Given the description of an element on the screen output the (x, y) to click on. 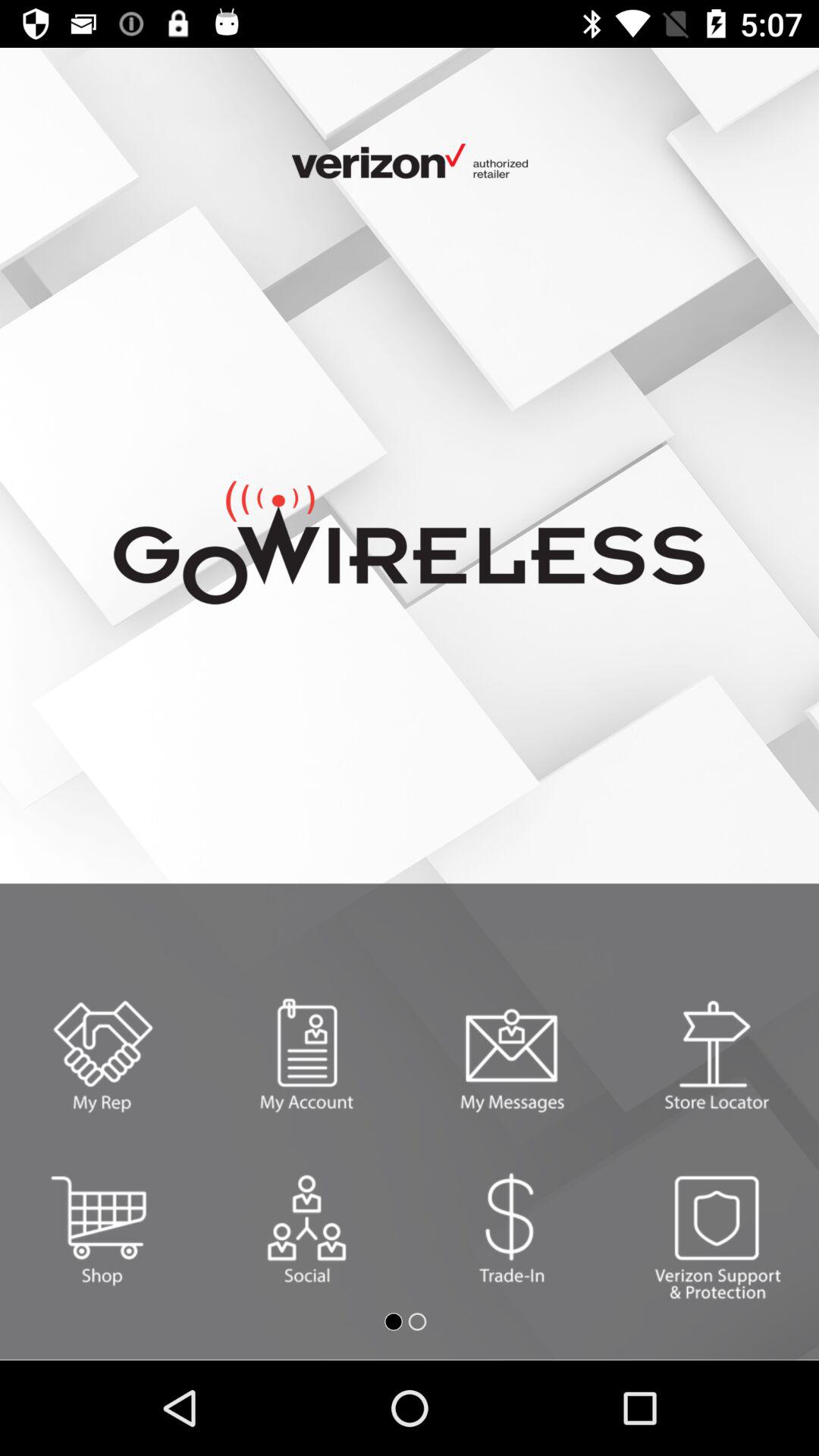
view support (716, 1228)
